Given the description of an element on the screen output the (x, y) to click on. 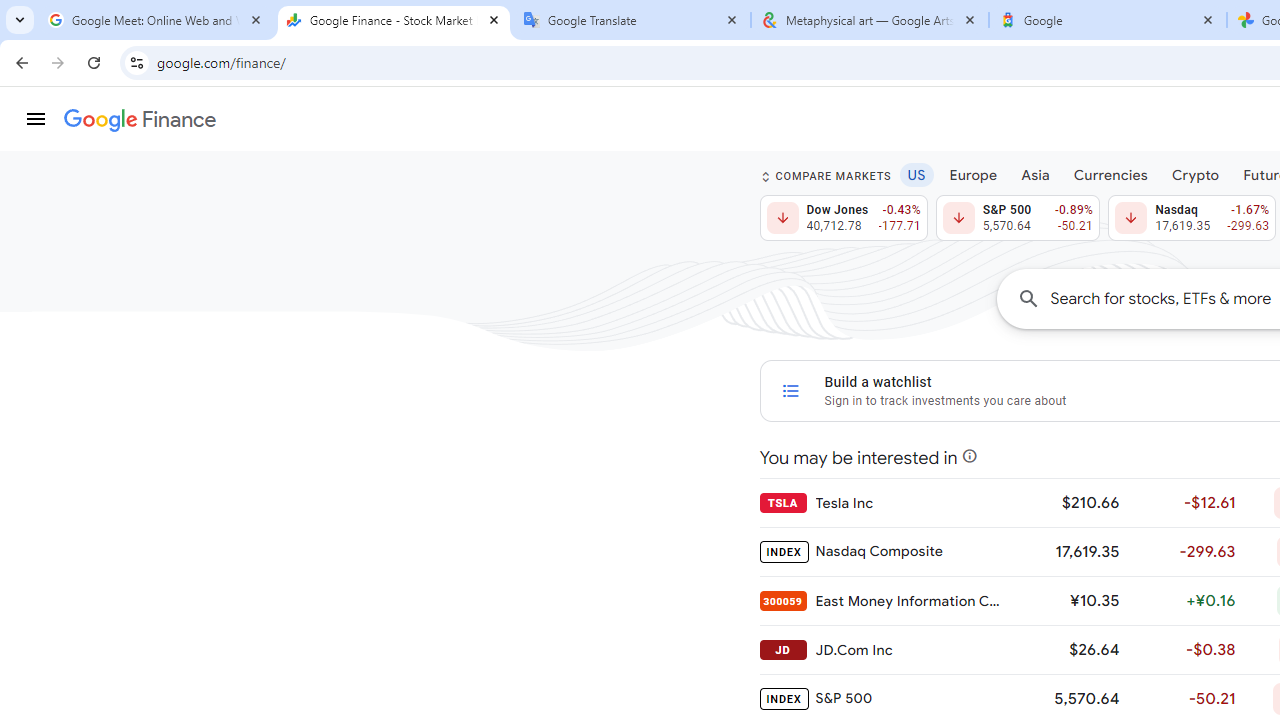
Dow Jones 40,712.78 Down by 0.43% -177.71 (843, 218)
Currencies (1109, 174)
Google (1108, 20)
Google Translate (632, 20)
US (916, 174)
Nasdaq 17,619.35 Down by 1.67% -299.63 (1192, 218)
S&P 500 5,570.64 Down by 0.89% -50.21 (1017, 218)
Europe (973, 174)
Main menu (35, 119)
